Given the description of an element on the screen output the (x, y) to click on. 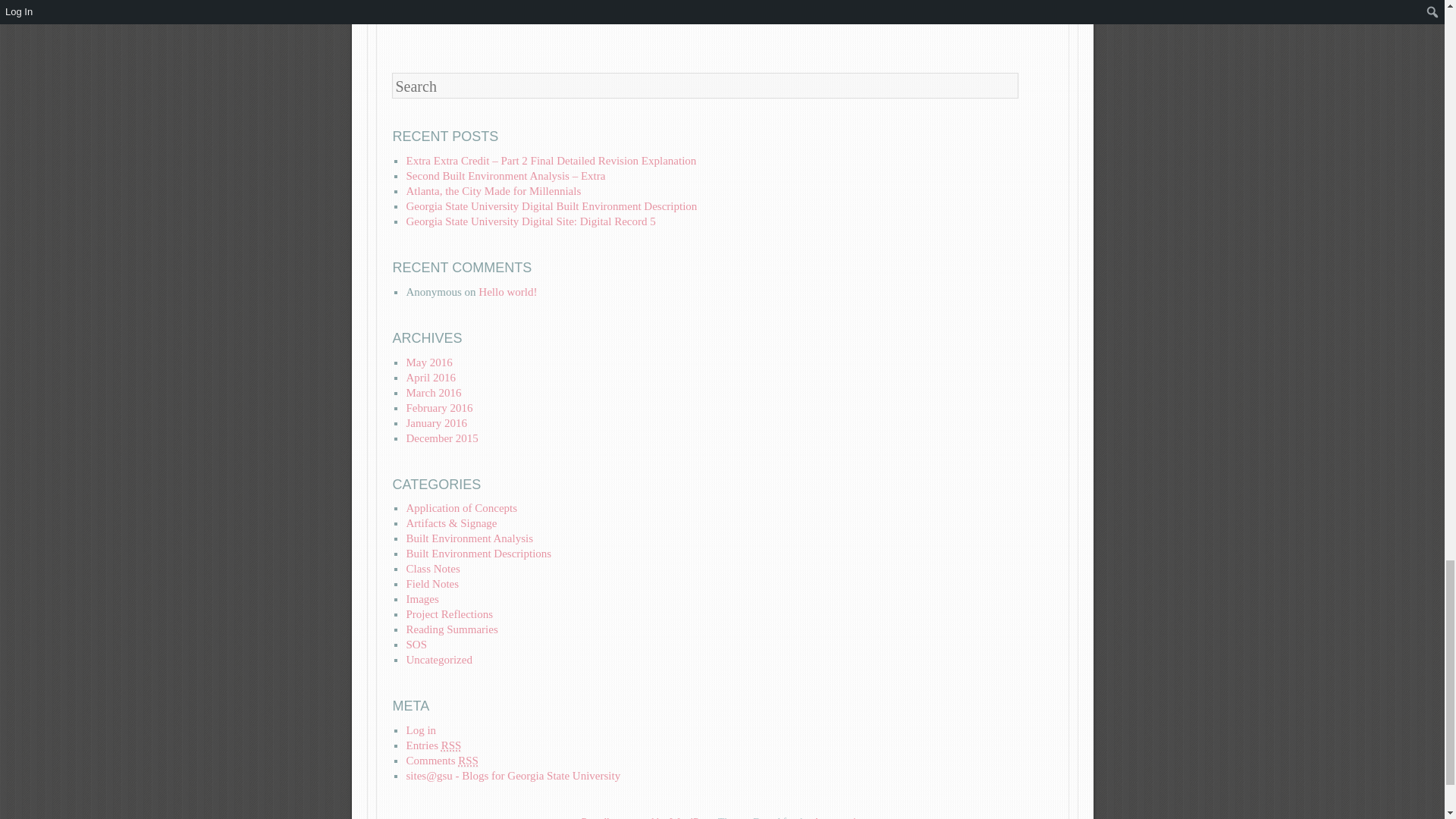
Built Environment Analysis (469, 538)
Really Simple Syndication (451, 745)
January 2016 (435, 422)
The latest comments to all posts in RSS (441, 760)
Atlanta, the City Made for Millennials (493, 191)
March 2016 (433, 392)
Hello world! (508, 291)
Application of Concepts (461, 508)
May 2016 (428, 362)
Syndicate this site using RSS 2.0 (433, 745)
Really Simple Syndication (468, 760)
February 2016 (438, 408)
Georgia State University Digital Site: Digital Record 5 (530, 221)
December 2015 (441, 438)
